Given the description of an element on the screen output the (x, y) to click on. 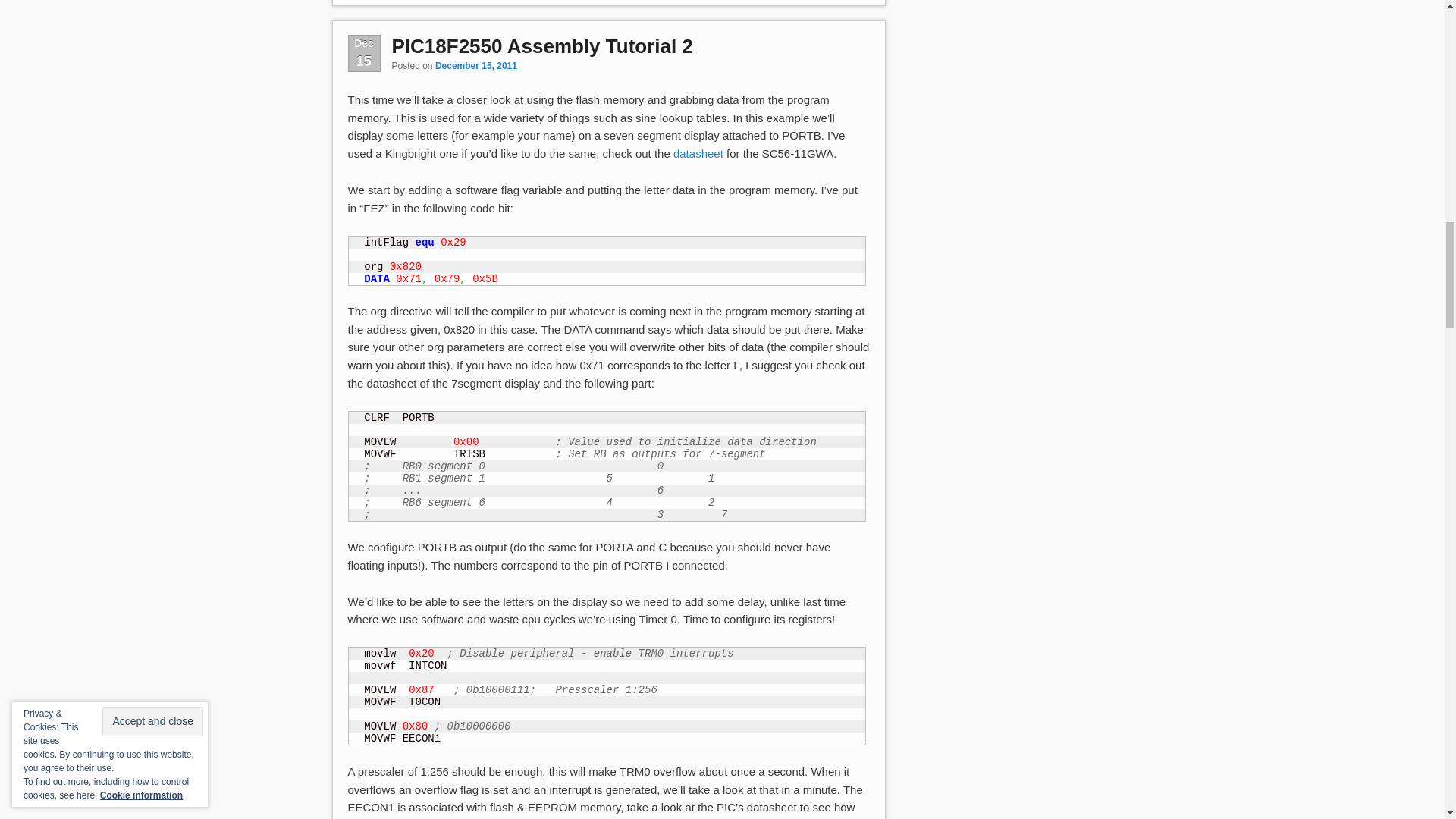
Permalink to PIC18F2550 Assembly Tutorial 2 (542, 46)
11:57 (475, 65)
datasheet (697, 153)
PIC18F2550 Assembly Tutorial 2 (542, 46)
December 15, 2011 (475, 65)
